Given the description of an element on the screen output the (x, y) to click on. 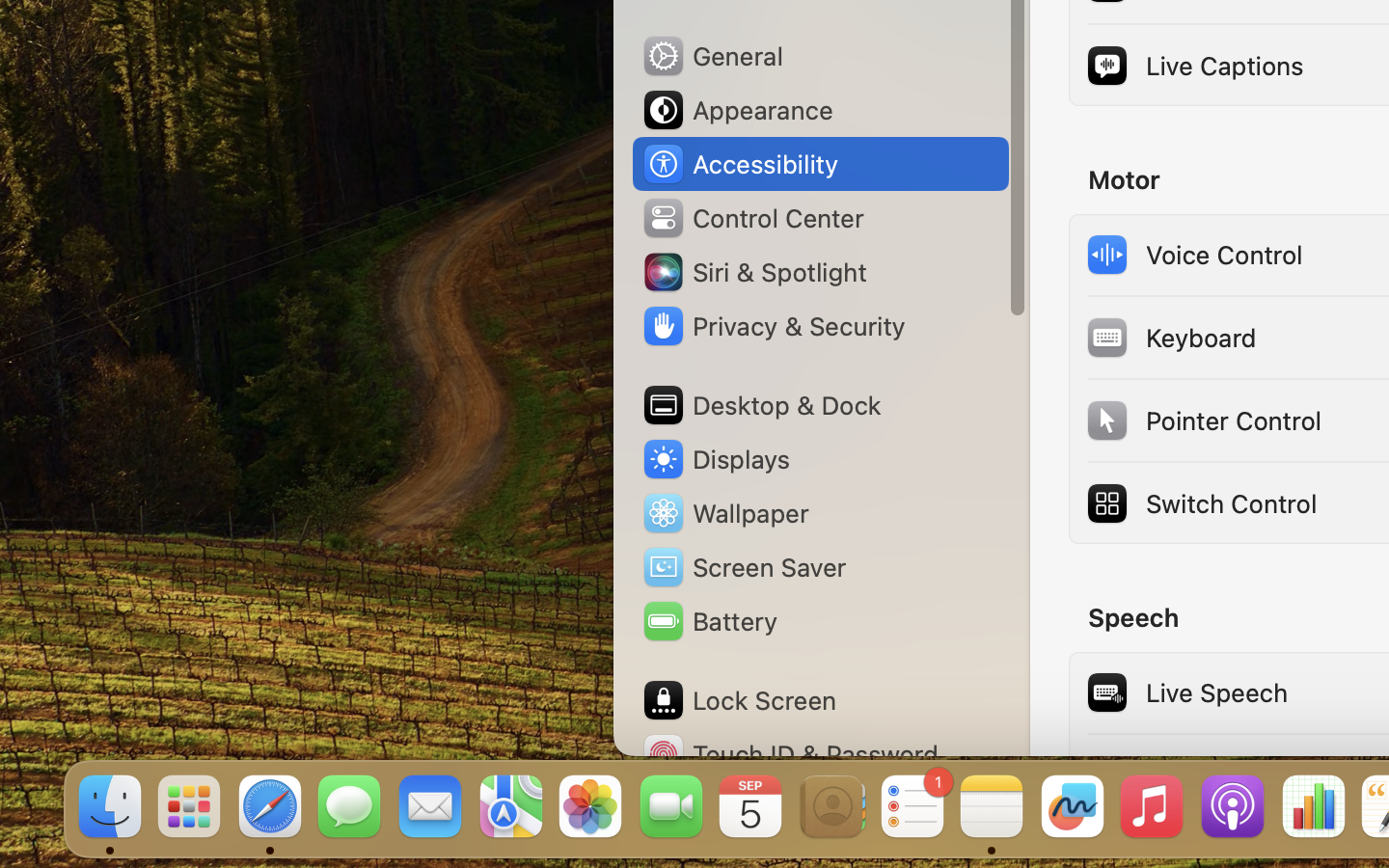
Siri & Spotlight Element type: AXStaticText (753, 271)
Desktop & Dock Element type: AXStaticText (760, 404)
Battery Element type: AXStaticText (708, 620)
Displays Element type: AXStaticText (715, 458)
Accessibility Element type: AXStaticText (739, 163)
